Given the description of an element on the screen output the (x, y) to click on. 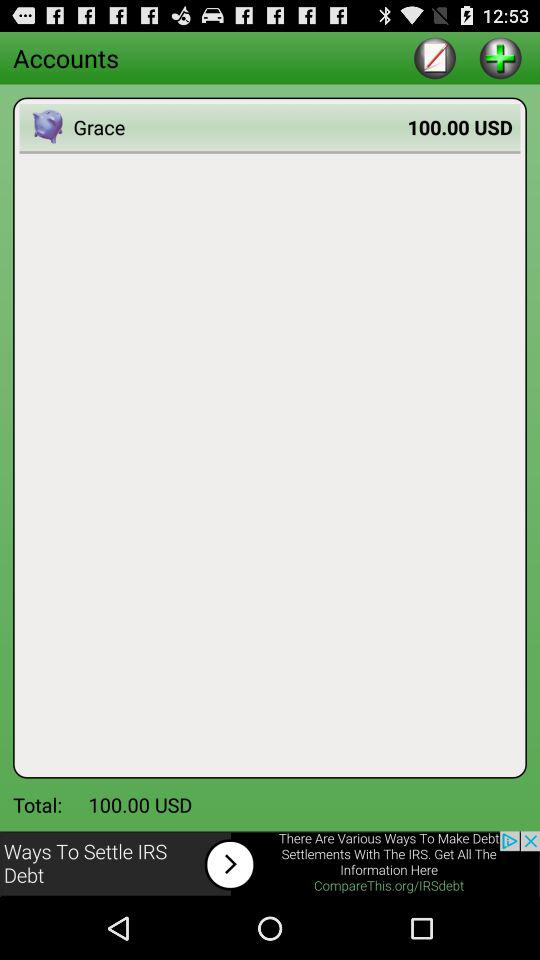
note the box (434, 57)
